Given the description of an element on the screen output the (x, y) to click on. 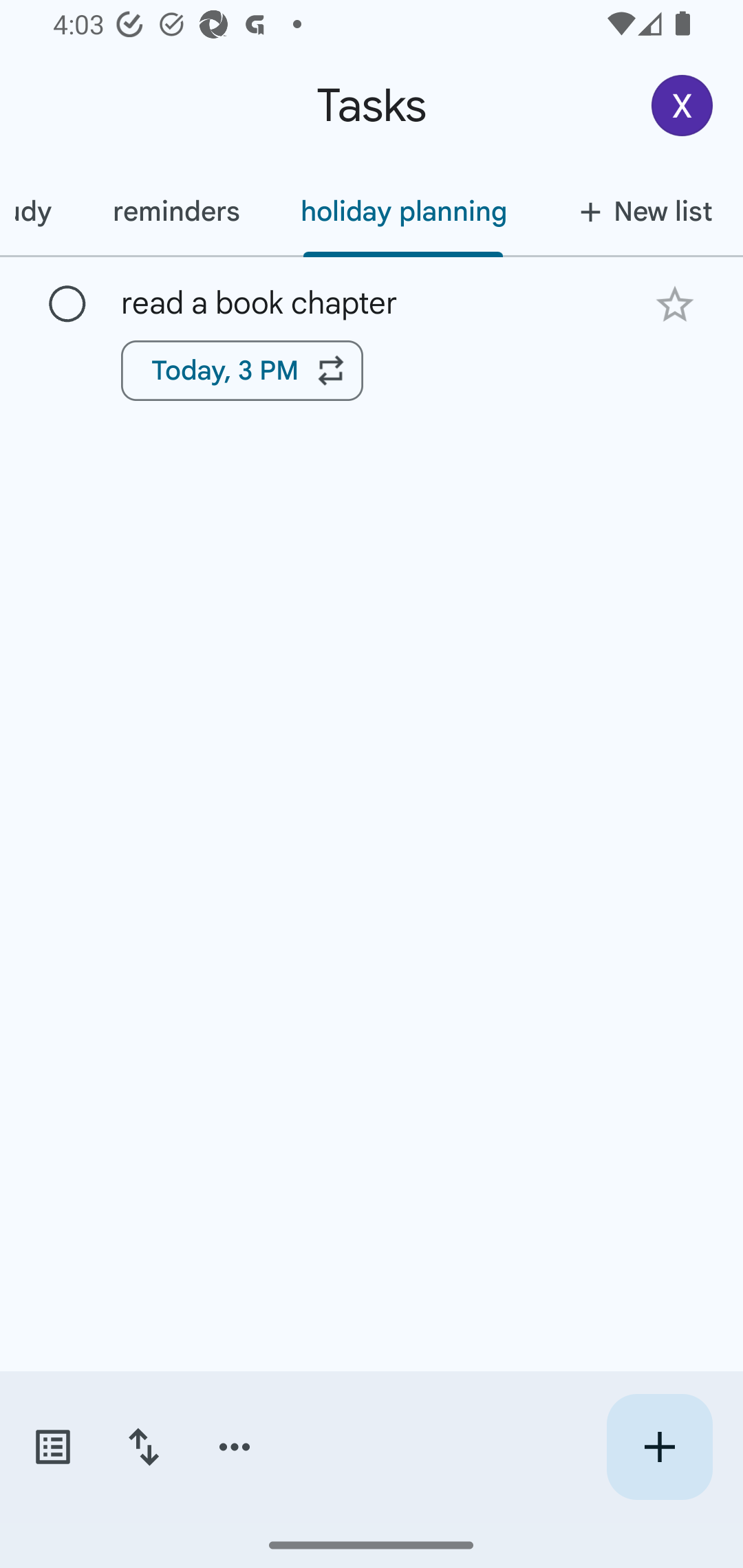
Study (40, 211)
reminders (175, 211)
New list (640, 211)
Add star (674, 303)
Mark as complete (67, 304)
Today, 3 PM (242, 369)
Switch task lists (52, 1447)
Create new task (659, 1446)
Change sort order (143, 1446)
More options (234, 1446)
